Given the description of an element on the screen output the (x, y) to click on. 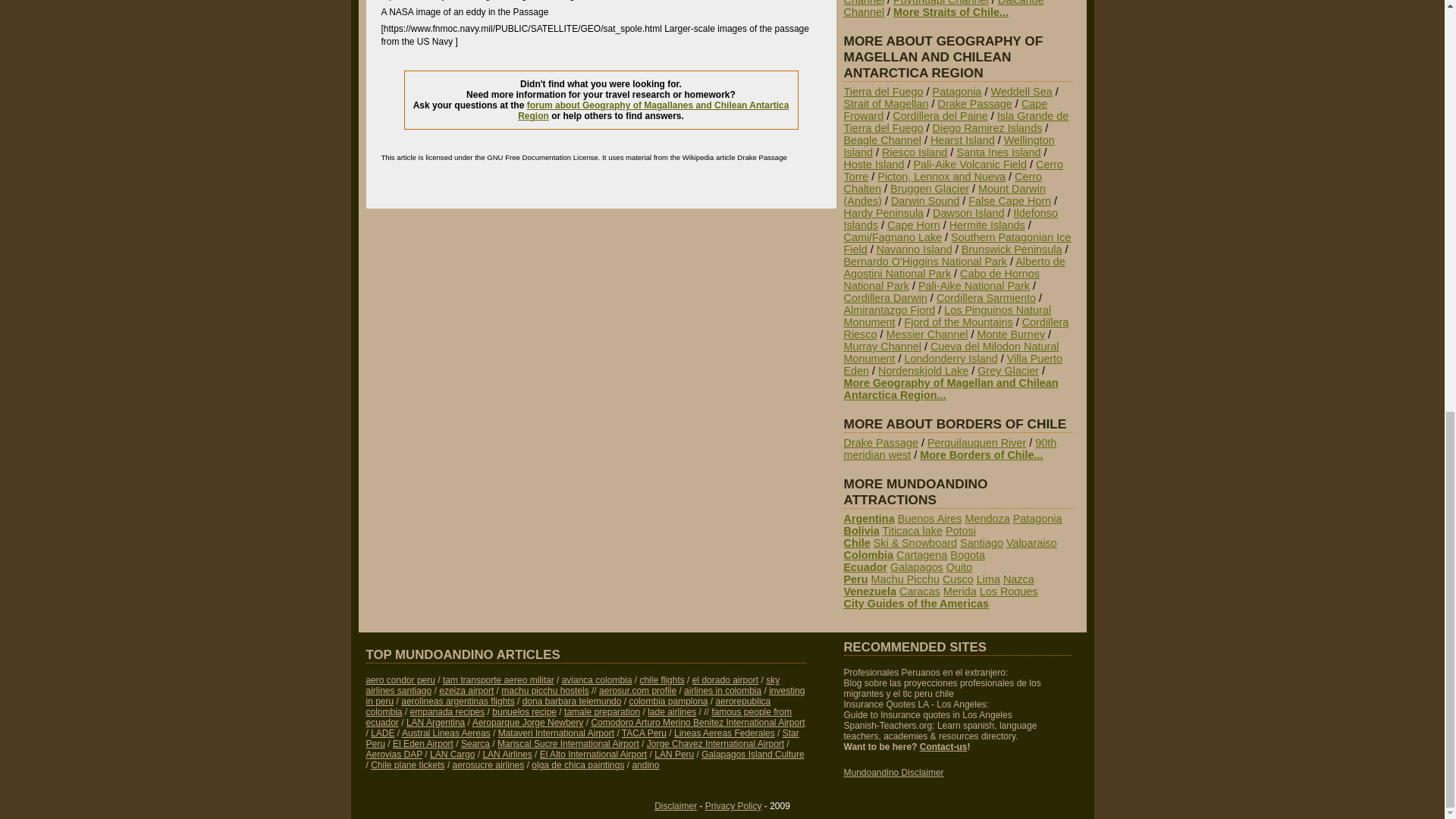
Airlines of Peru (399, 679)
ministro pistarini - ezeiza airport (466, 690)
Aerosur Bolivia Airline (637, 690)
Peru Economy (585, 695)
machu picchu (544, 690)
SAM Colombia airlines (722, 690)
Airlines of Colombia (596, 679)
Bogota airport (725, 679)
Airlines of Argentina (457, 701)
Airlines of Bolivia (498, 679)
Airlines of Chile, tickets, flights (661, 679)
Airlines of Chile (571, 685)
